Given the description of an element on the screen output the (x, y) to click on. 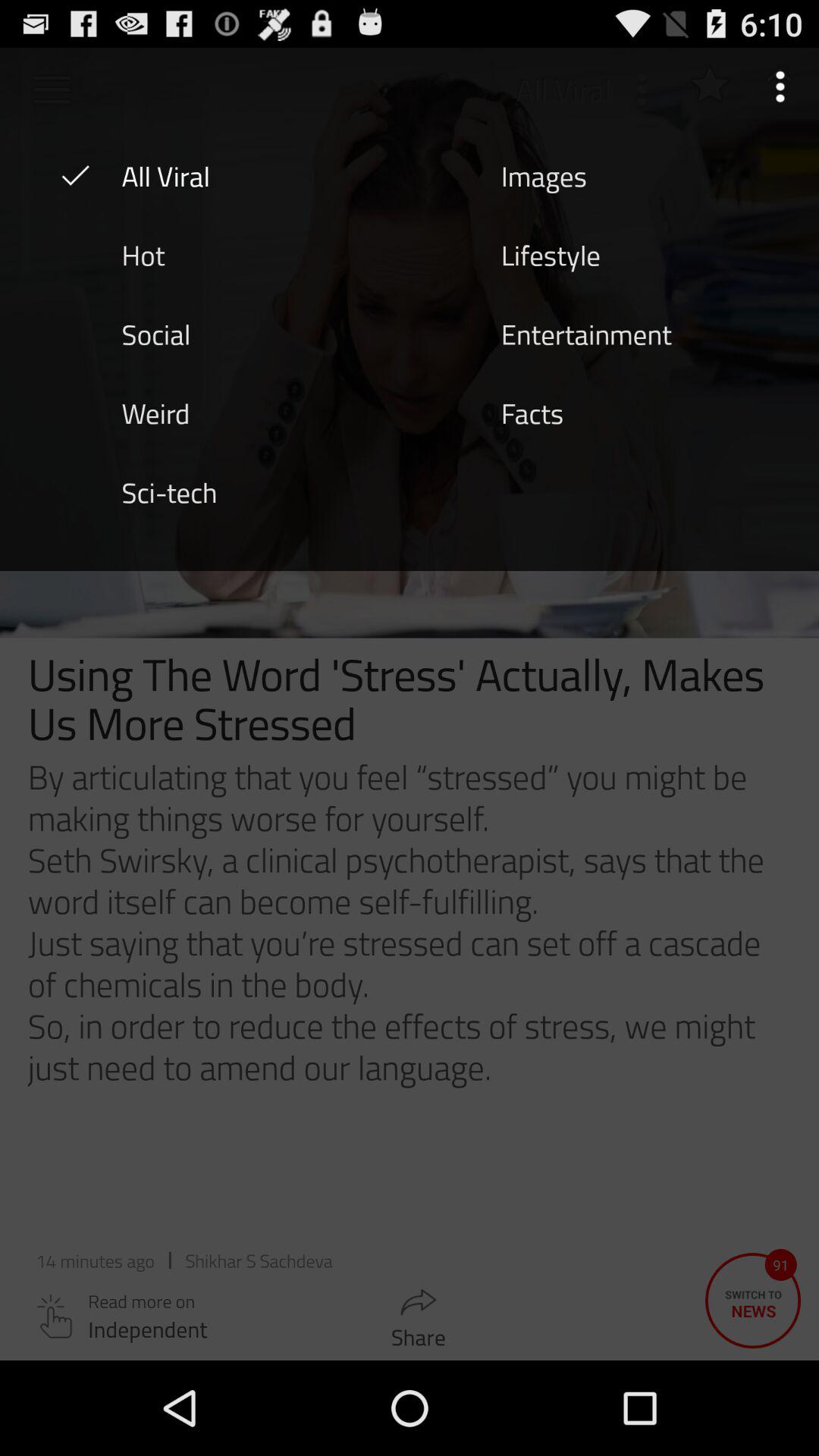
tap the icon below lifestyle icon (585, 332)
